Given the description of an element on the screen output the (x, y) to click on. 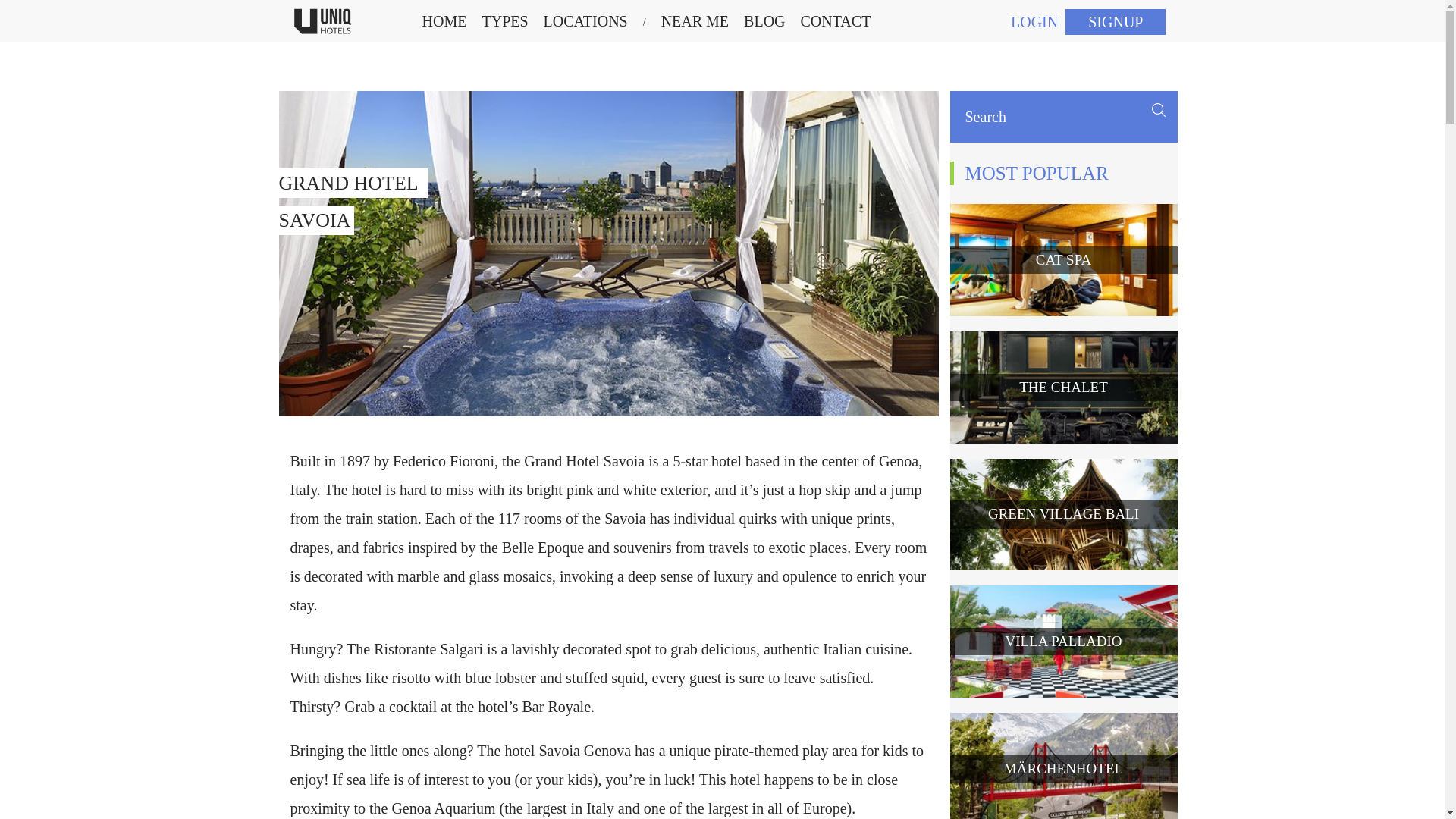
BLOG (764, 21)
NEAR ME (695, 21)
CONTACT (585, 21)
HOME (835, 21)
TYPES (444, 21)
